Given the description of an element on the screen output the (x, y) to click on. 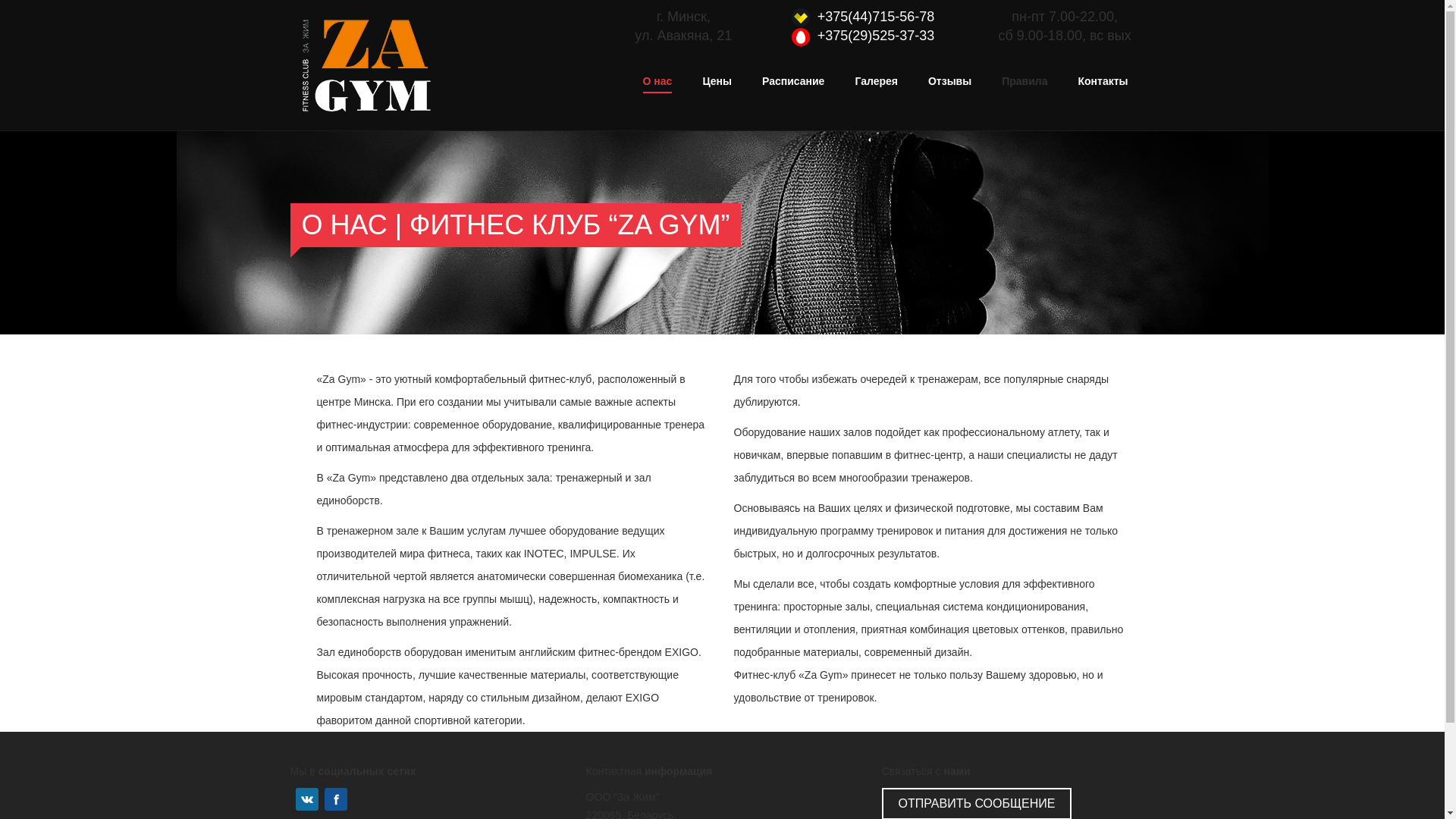
+375(44)715-56-78 Element type: text (876, 16)
  Element type: text (290, 798)
+375(29)525-37-33 Element type: text (876, 35)
